Given the description of an element on the screen output the (x, y) to click on. 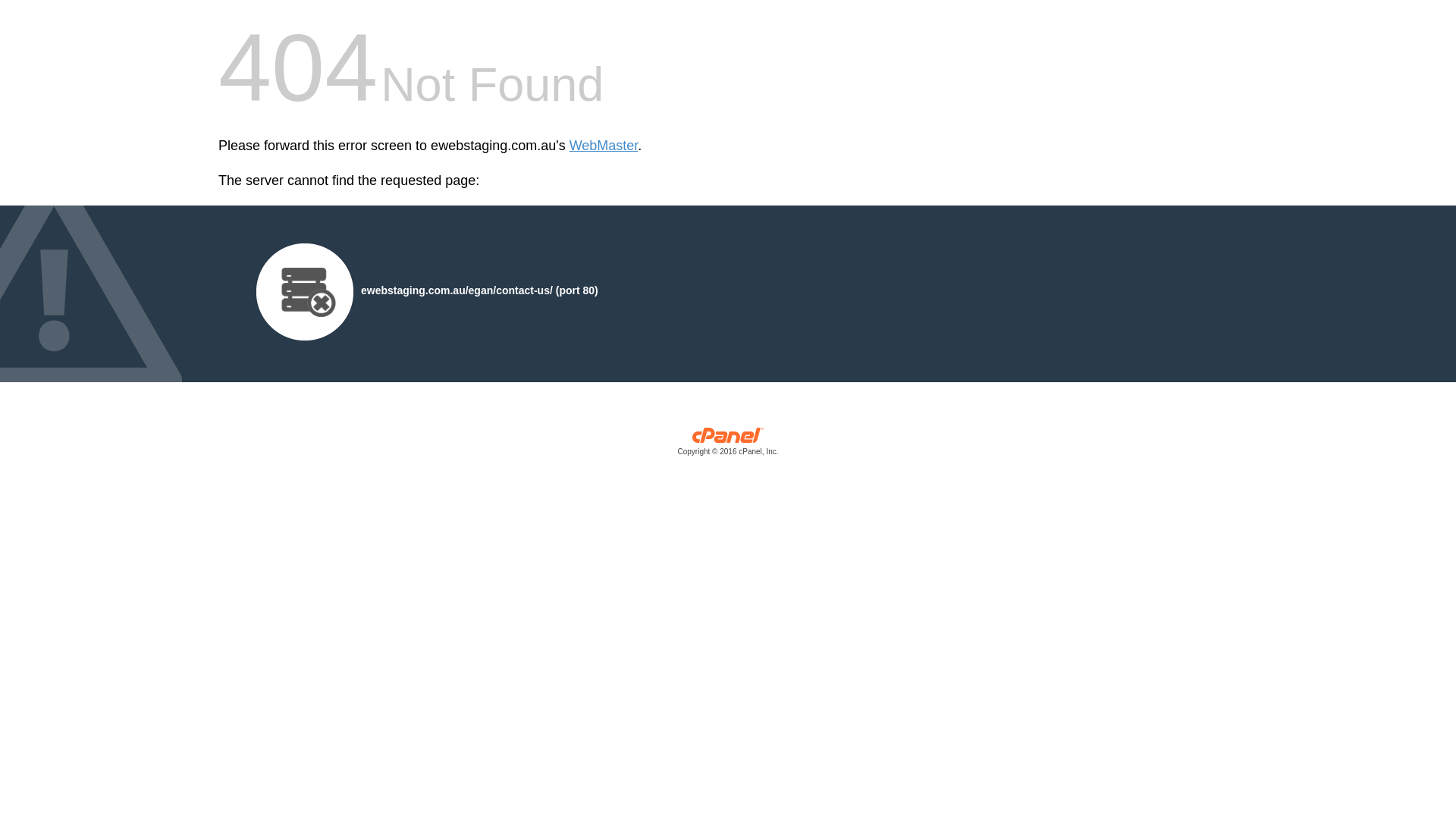
WebMaster Element type: text (603, 145)
